Given the description of an element on the screen output the (x, y) to click on. 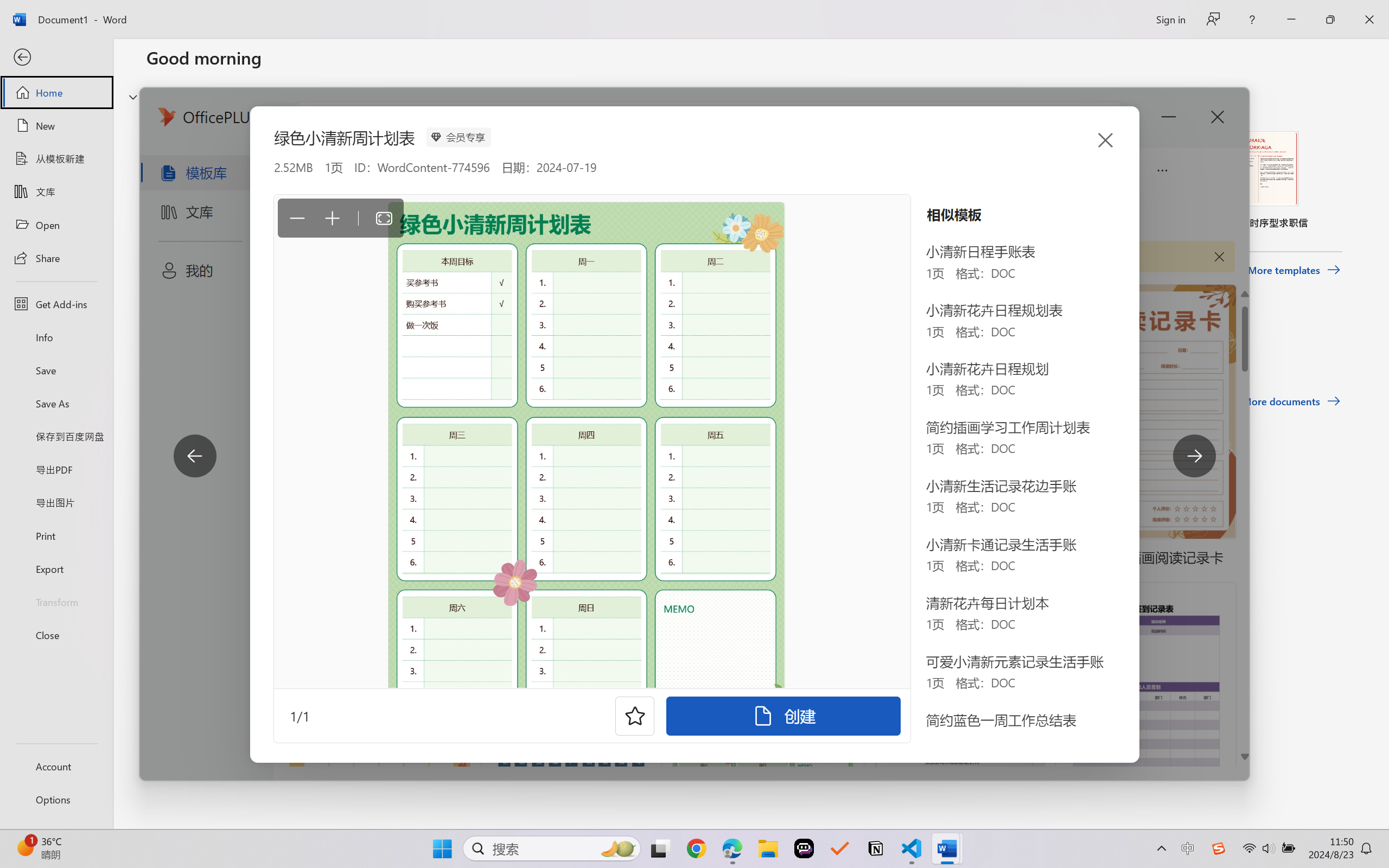
More actions for Chrome Web Store shortcut (654, 281)
Subscriptions - YouTube (901, 12)
More actions for Sign in shortcut (776, 281)
Google News (48, 12)
Sign in - Google Accounts (1240, 12)
